Given the description of an element on the screen output the (x, y) to click on. 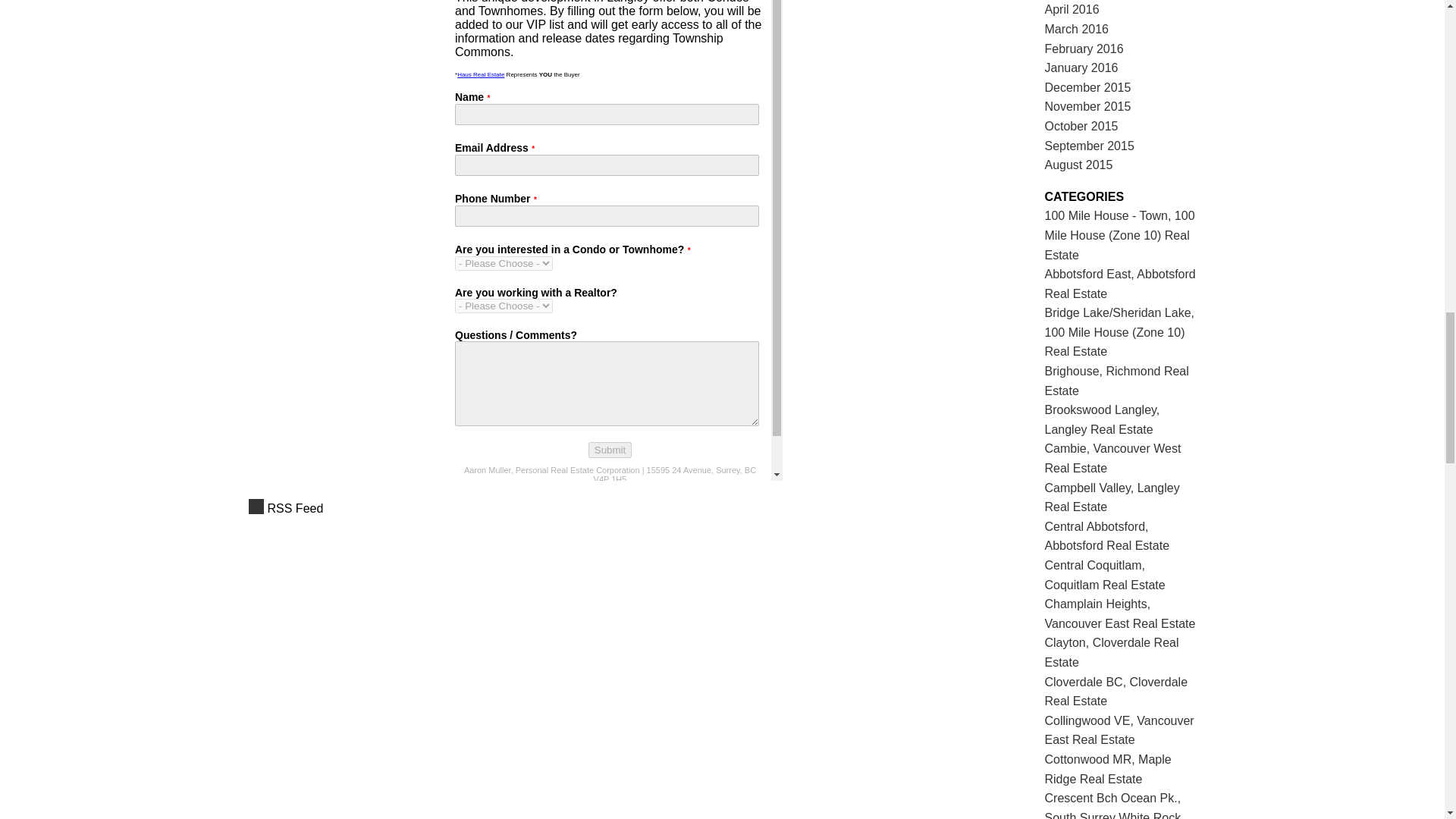
RSS (616, 508)
